Given the description of an element on the screen output the (x, y) to click on. 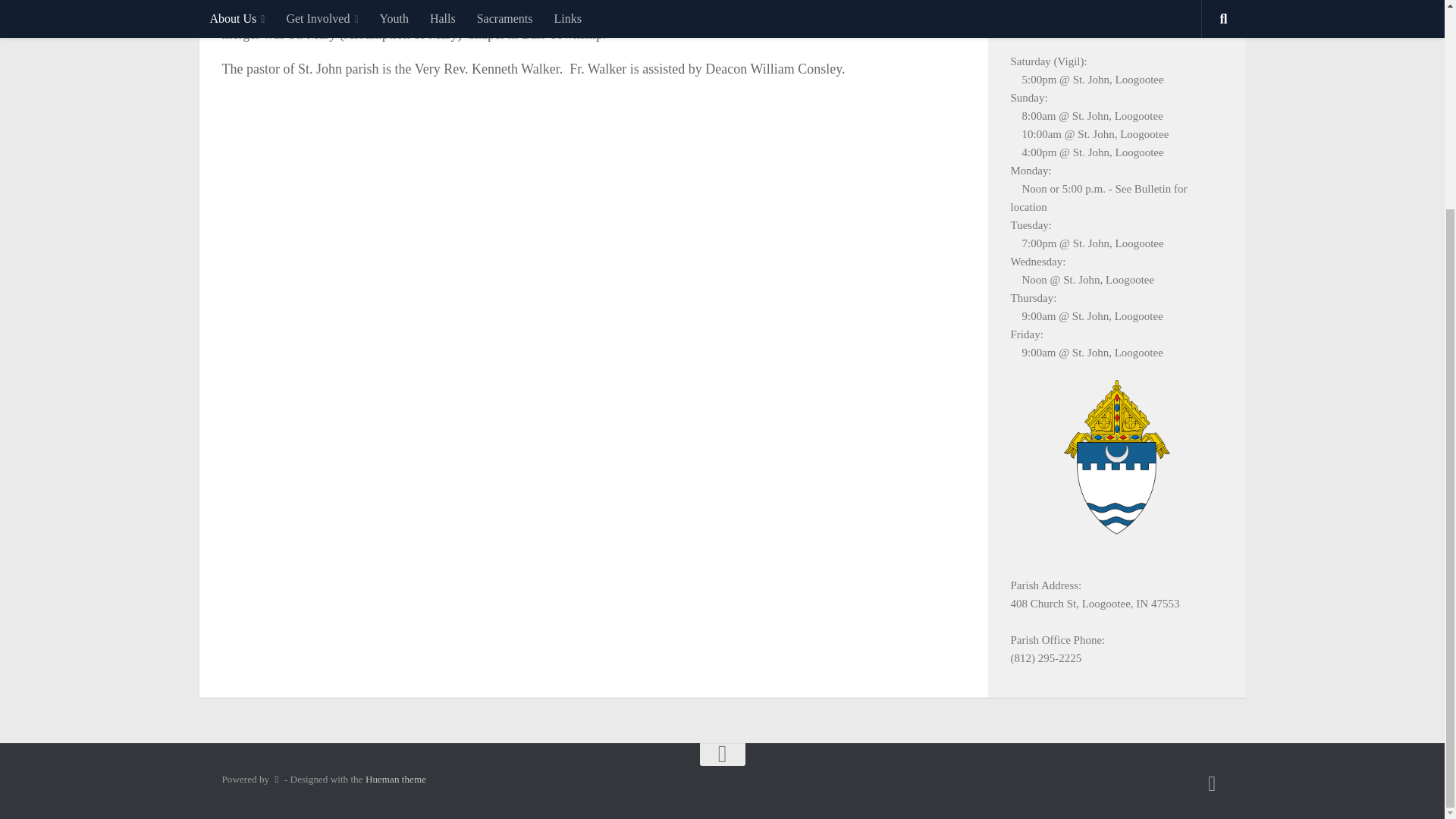
Hueman theme (395, 778)
Hueman theme (395, 778)
Follow us on Facebook (1212, 783)
Powered by WordPress (275, 778)
